Given the description of an element on the screen output the (x, y) to click on. 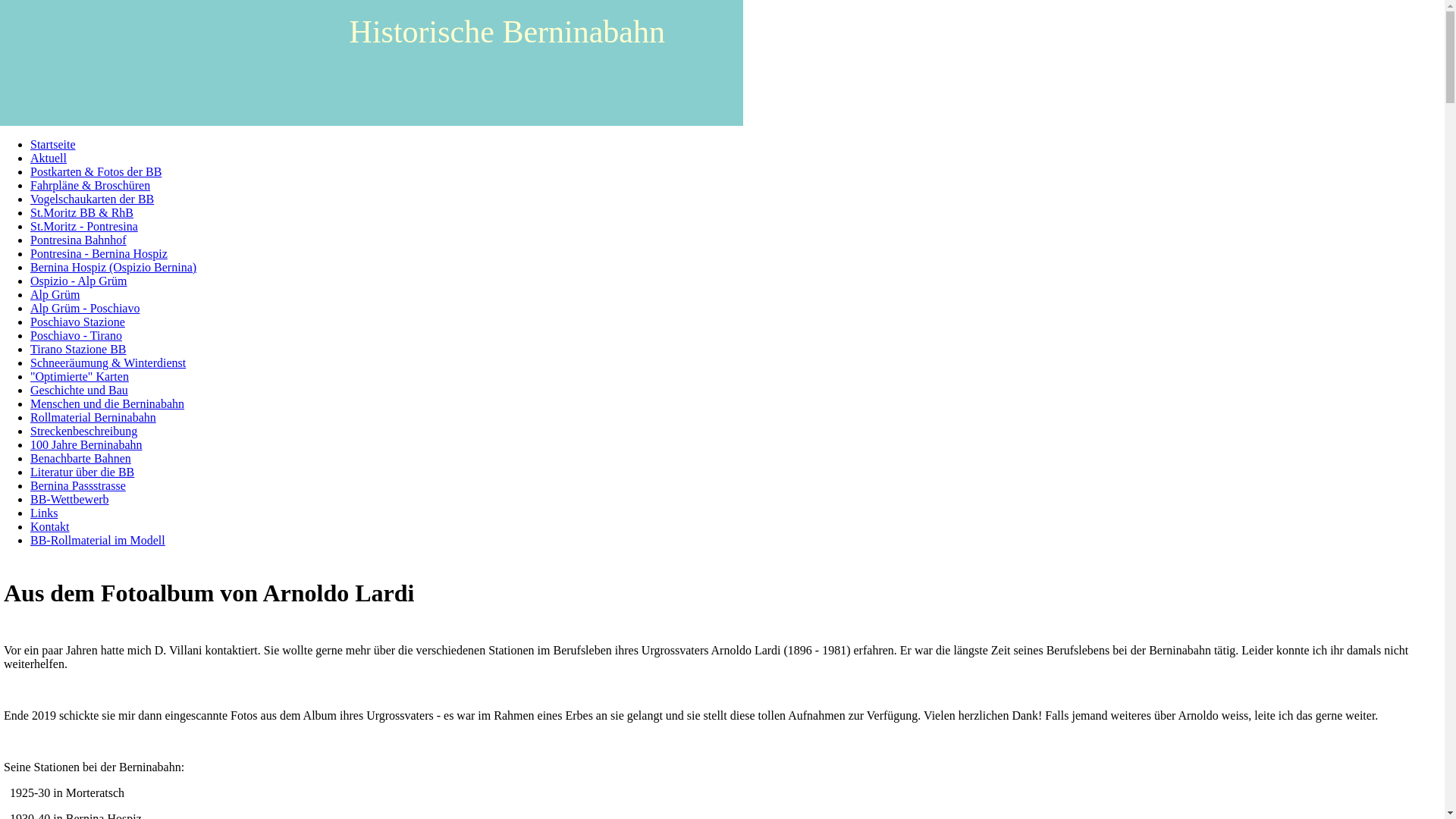
Pontresina - Bernina Hospiz Element type: text (98, 253)
Bernina Hospiz (Ospizio Bernina) Element type: text (113, 266)
Poschiavo - Tirano Element type: text (76, 335)
Vogelschaukarten der BB Element type: text (91, 198)
Tirano Stazione BB Element type: text (78, 348)
St.Moritz - Pontresina Element type: text (84, 225)
Kontakt Element type: text (49, 526)
Pontresina Bahnhof Element type: text (78, 239)
100 Jahre Berninabahn Element type: text (86, 444)
Aktuell Element type: text (48, 157)
St.Moritz BB & RhB Element type: text (81, 212)
Startseite Element type: text (52, 144)
Benachbarte Bahnen Element type: text (80, 457)
Rollmaterial Berninabahn Element type: text (93, 417)
Menschen und die Berninabahn Element type: text (107, 403)
Poschiavo Stazione Element type: text (77, 321)
Bernina Passstrasse Element type: text (77, 485)
Geschichte und Bau Element type: text (79, 389)
"Optimierte" Karten Element type: text (79, 376)
Postkarten & Fotos der BB Element type: text (95, 171)
BB-Rollmaterial im Modell Element type: text (97, 539)
Links Element type: text (43, 512)
Streckenbeschreibung Element type: text (83, 430)
BB-Wettbewerb Element type: text (69, 498)
